Given the description of an element on the screen output the (x, y) to click on. 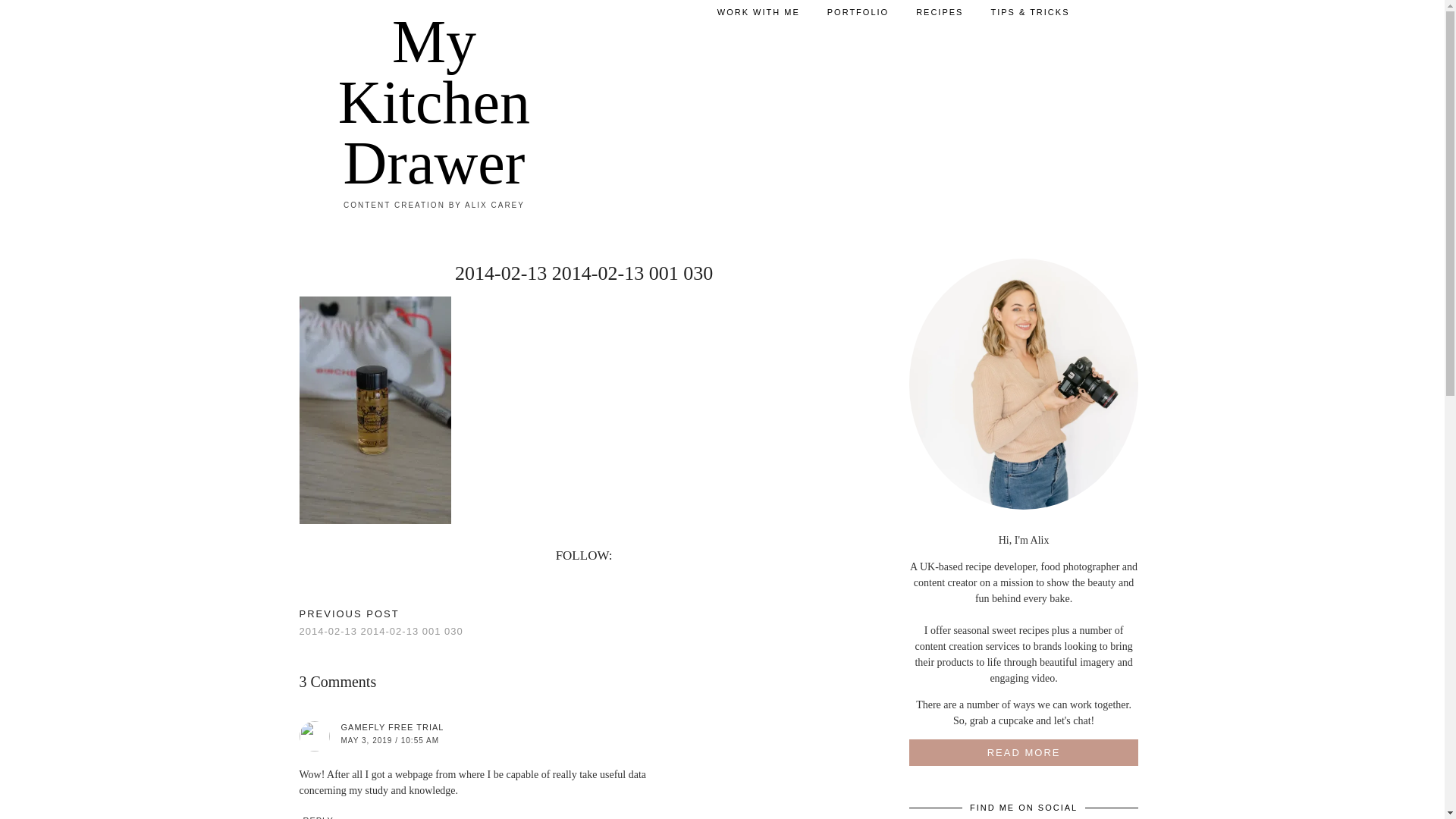
RECIPES (939, 12)
WORK WITH ME (758, 12)
My Kitchen Drawer (433, 102)
PORTFOLIO (857, 12)
My Kitchen Drawer (433, 102)
